Given the description of an element on the screen output the (x, y) to click on. 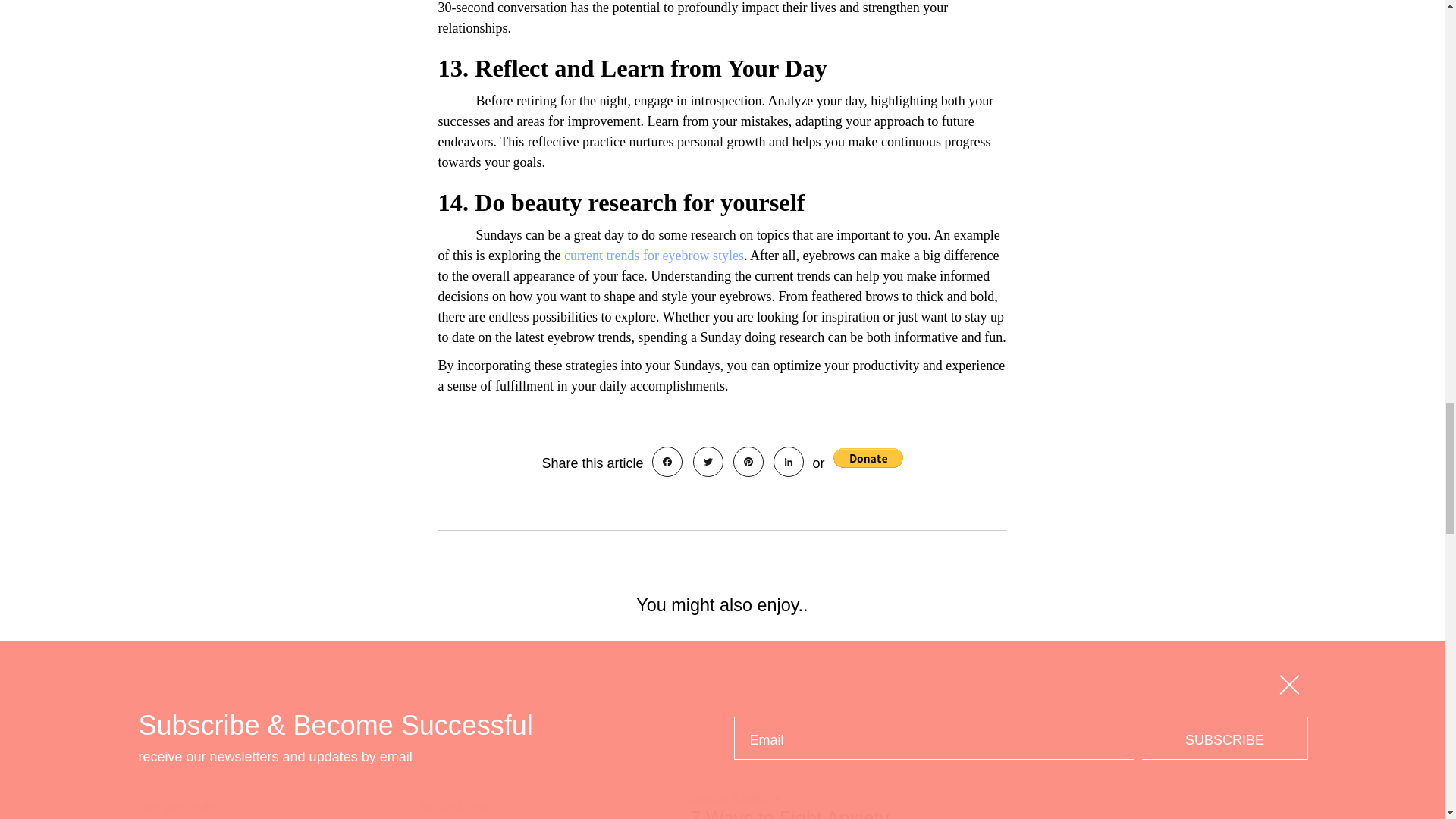
LINKEDIN (788, 461)
7 Ways to Fight Anxiety Instantly: A Detailed Guide (802, 813)
FACEBOOK (667, 461)
TWITTER (708, 461)
PINTEREST (747, 461)
current trends for eyebrow styles (654, 255)
